Given the description of an element on the screen output the (x, y) to click on. 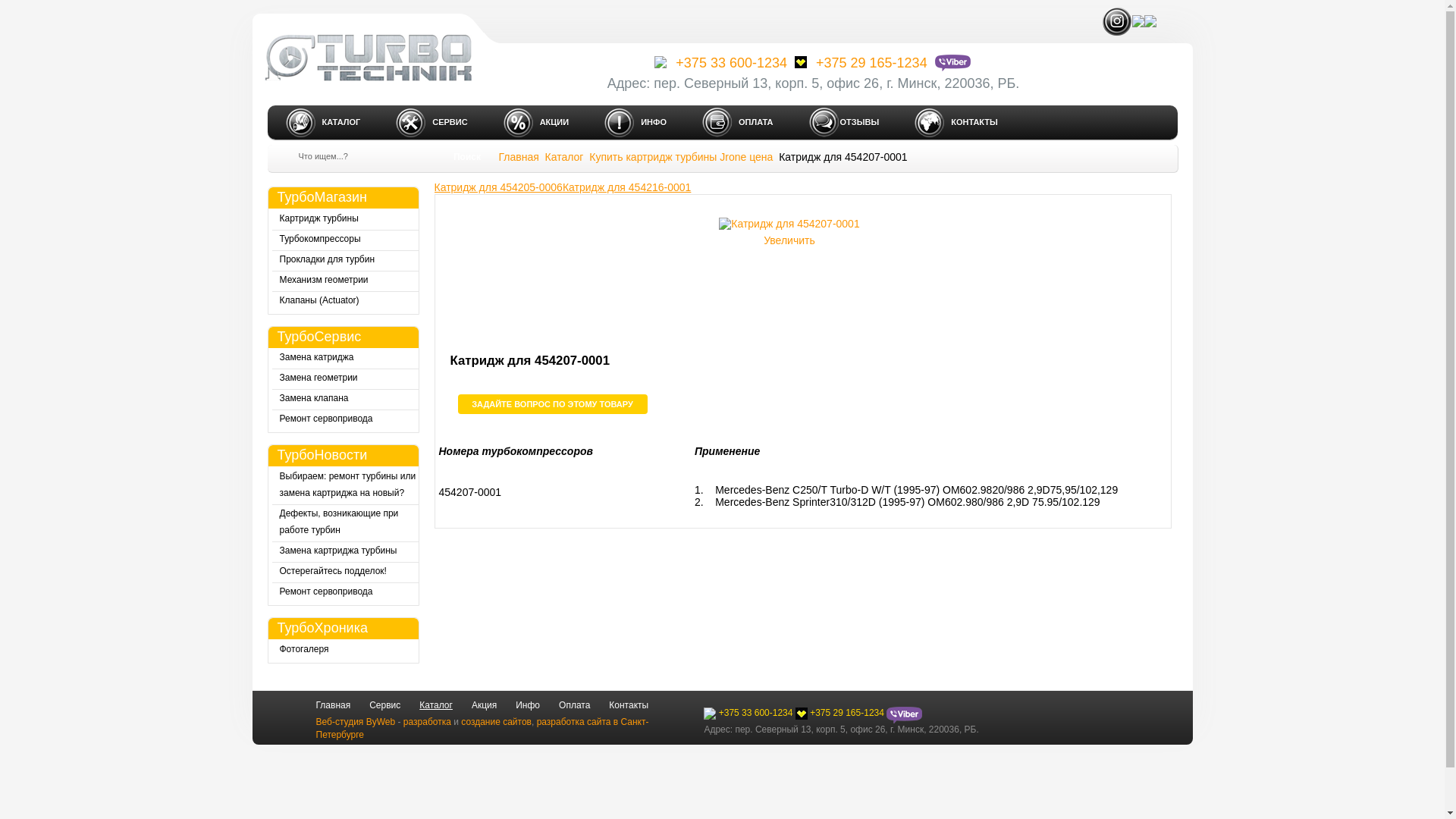
+375 33 600-1234 Element type: text (747, 712)
+375 33 600-1234 Element type: text (718, 62)
+375 29 165-1234 Element type: text (839, 712)
+375 29 165-1234 Element type: text (858, 62)
E-mail Element type: hover (1149, 21)
Skype Element type: hover (1137, 21)
ByWeb Element type: text (380, 720)
